Given the description of an element on the screen output the (x, y) to click on. 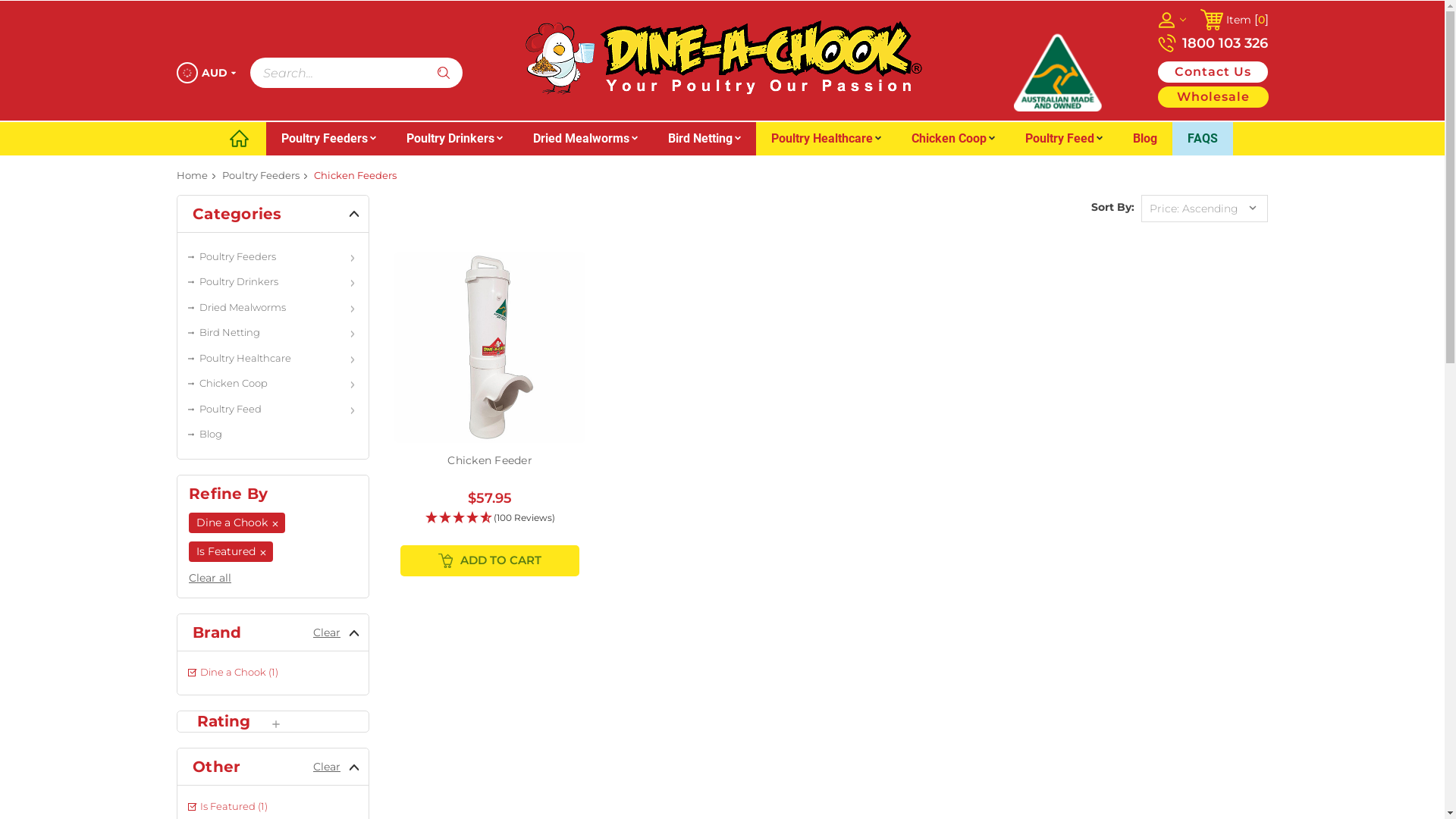
Dine a Chook Element type: hover (721, 58)
Poultry Feeders Element type: text (259, 175)
Bird Netting Element type: text (272, 332)
AUD Element type: text (205, 72)
Wholesale Element type: text (1212, 96)
Home Element type: text (191, 175)
Poultry Drinkers Element type: text (272, 281)
Poultry Feed Element type: text (272, 408)
Blog Element type: text (1144, 138)
Chicken Feeder Element type: text (489, 460)
Bird Netting Element type: text (703, 138)
Chicken Coop Element type: text (953, 138)
1800 103 326 Element type: text (1212, 42)
Dine a Chook (1) Element type: text (272, 672)
Dine a Chook Chicken Feeder Element type: hover (489, 346)
Rating Element type: text (231, 721)
Dried Mealworms Element type: text (272, 307)
FAQS Element type: text (1202, 138)
Poultry Healthcare Element type: text (825, 138)
Poultry Healthcare Element type: text (272, 358)
Contact Us Element type: text (1212, 71)
Poultry Feed Element type: text (1063, 138)
ADD TO CART Element type: text (489, 560)
Clear Element type: text (326, 766)
Item [0] Element type: text (1233, 19)
Dine a Chook Element type: text (236, 522)
Poultry Feeders Element type: text (272, 256)
Dried Mealworms Element type: text (584, 138)
Is Featured Element type: text (230, 551)
Clear Element type: text (326, 632)
Blog Element type: text (272, 434)
Clear all Element type: text (209, 577)
Is Featured (1) Element type: text (272, 807)
Chicken Feeders Element type: text (354, 175)
Chicken Coop Element type: text (272, 383)
Poultry Feeders Element type: text (327, 138)
Poultry Drinkers Element type: text (454, 138)
